Given the description of an element on the screen output the (x, y) to click on. 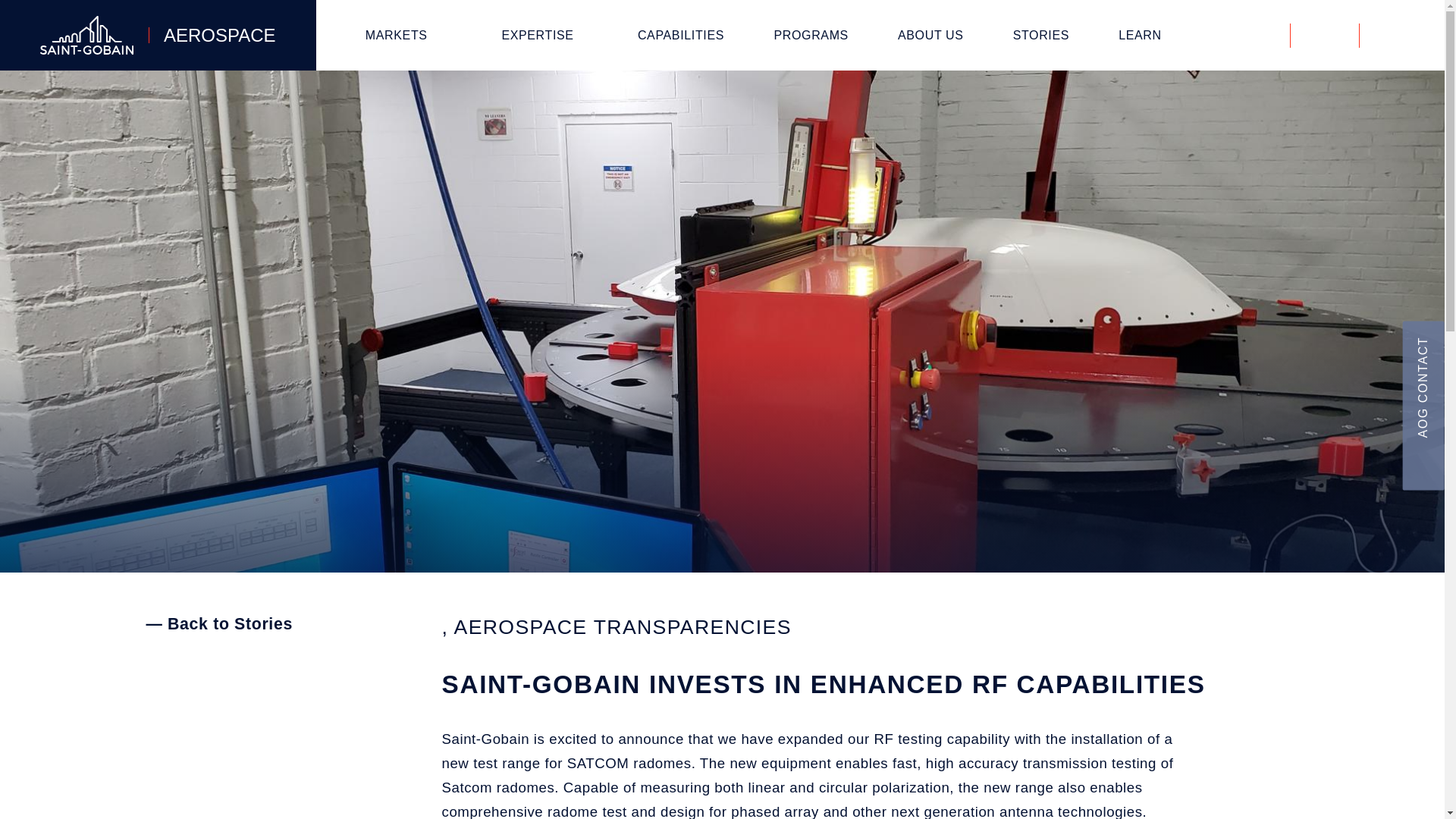
MARKETS (399, 35)
Home (157, 35)
Home" (157, 35)
CAPABILITIES (684, 35)
EXPERTISE (541, 35)
